Given the description of an element on the screen output the (x, y) to click on. 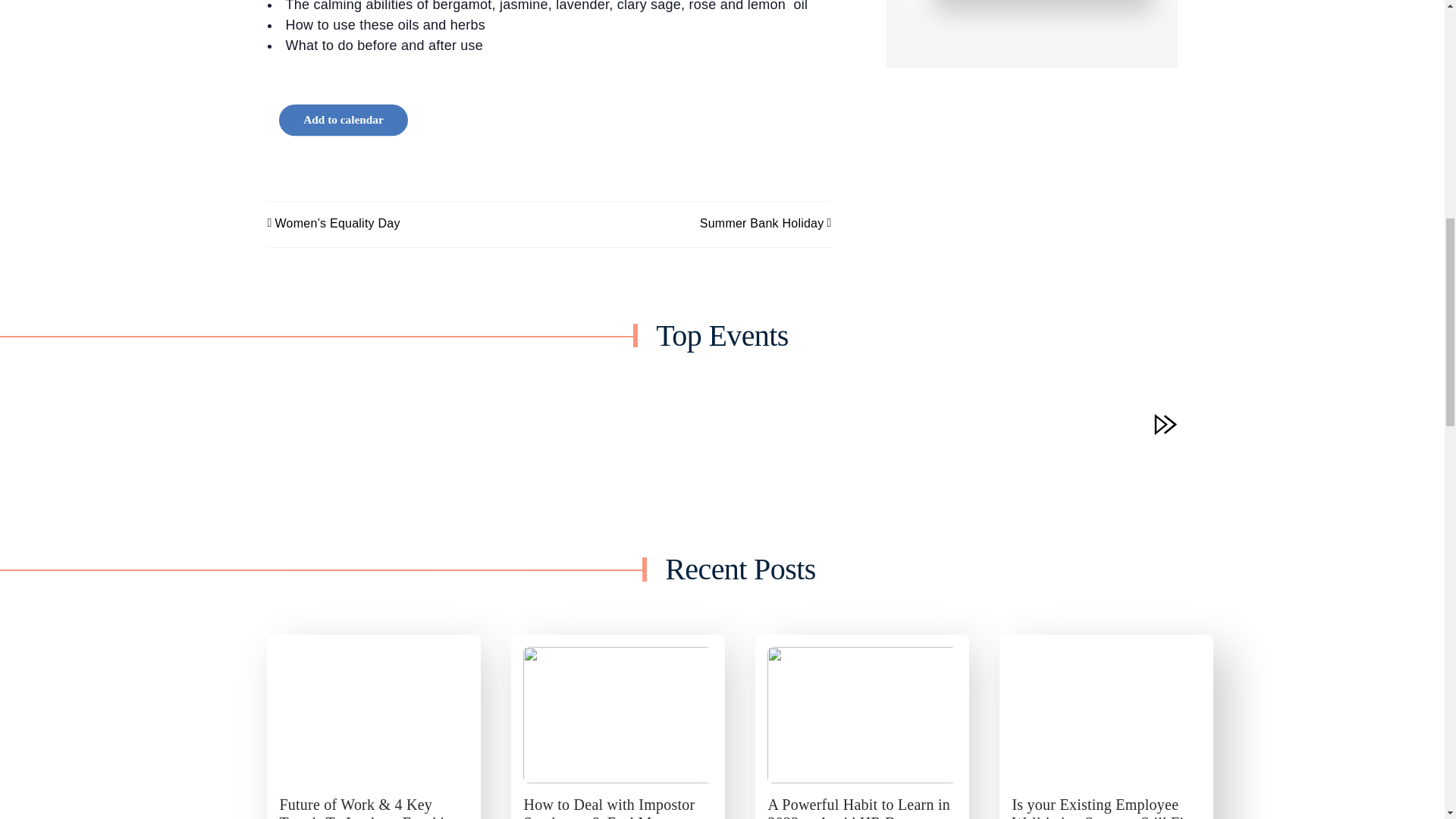
Summer Bank Holiday (757, 224)
A Powerful Habit to Learn in 2023 to Avoid HR Burnout (861, 714)
Add to calendar (349, 121)
